Given the description of an element on the screen output the (x, y) to click on. 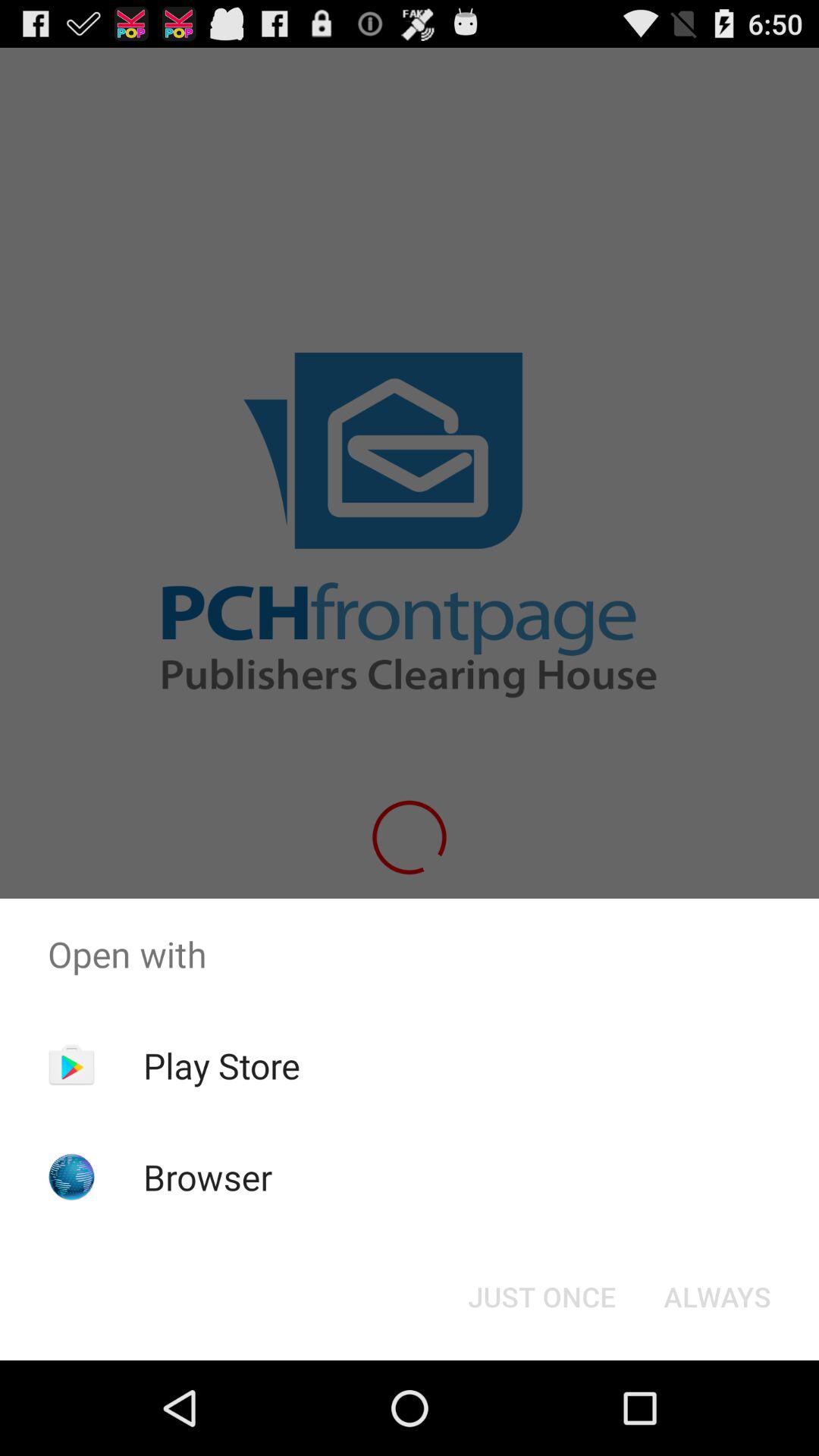
turn on play store app (221, 1065)
